Given the description of an element on the screen output the (x, y) to click on. 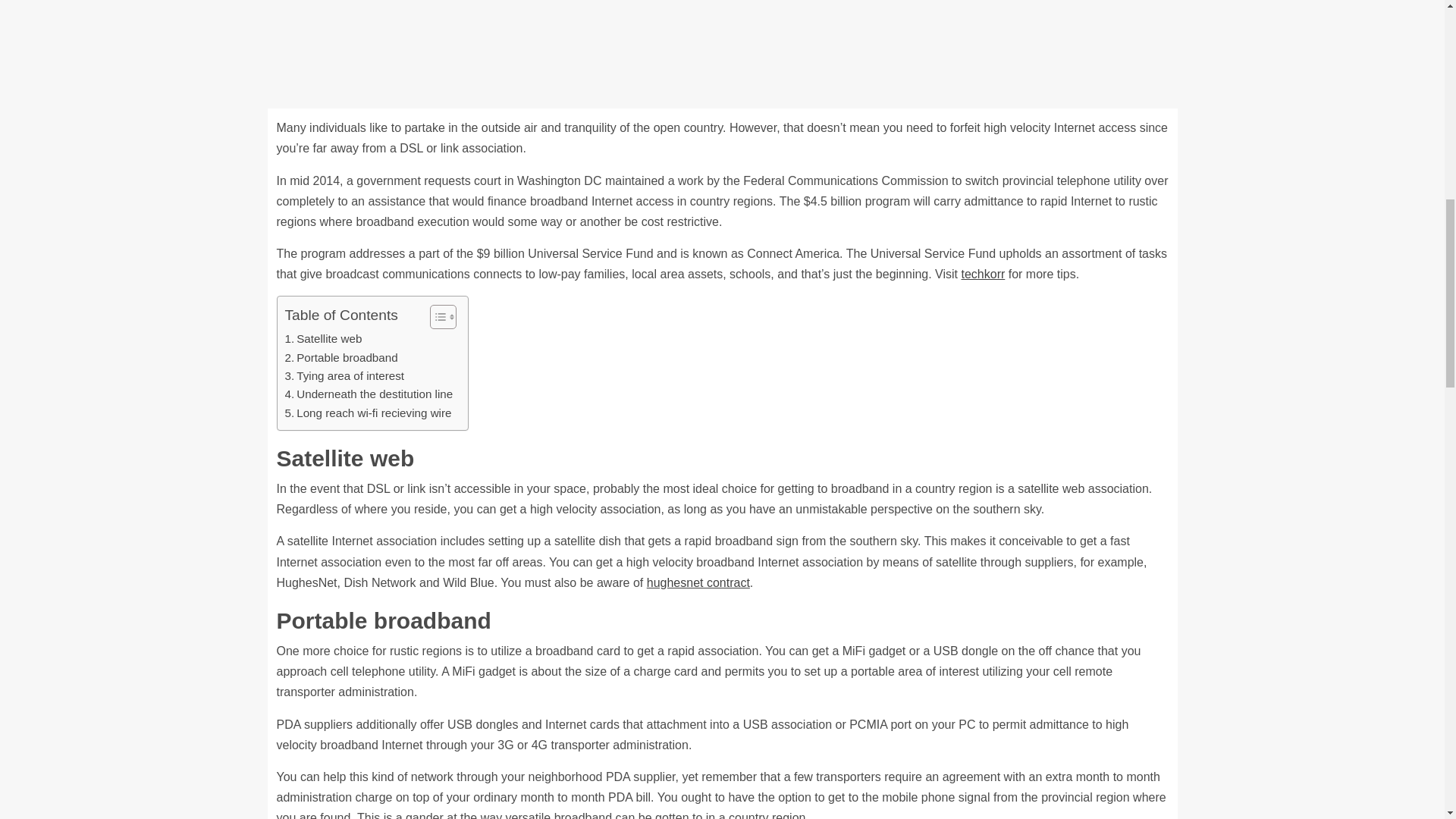
hughesnet contract (697, 582)
Underneath the destitution line (368, 393)
Underneath the destitution line (368, 393)
techkorr (983, 273)
Tying area of interest (344, 375)
Long reach wi-fi recieving wire (368, 413)
Portable broadband (341, 357)
Satellite web (323, 339)
Long reach wi-fi recieving wire (368, 413)
Tying area of interest (344, 375)
Portable broadband (341, 357)
Satellite web (323, 339)
